Given the description of an element on the screen output the (x, y) to click on. 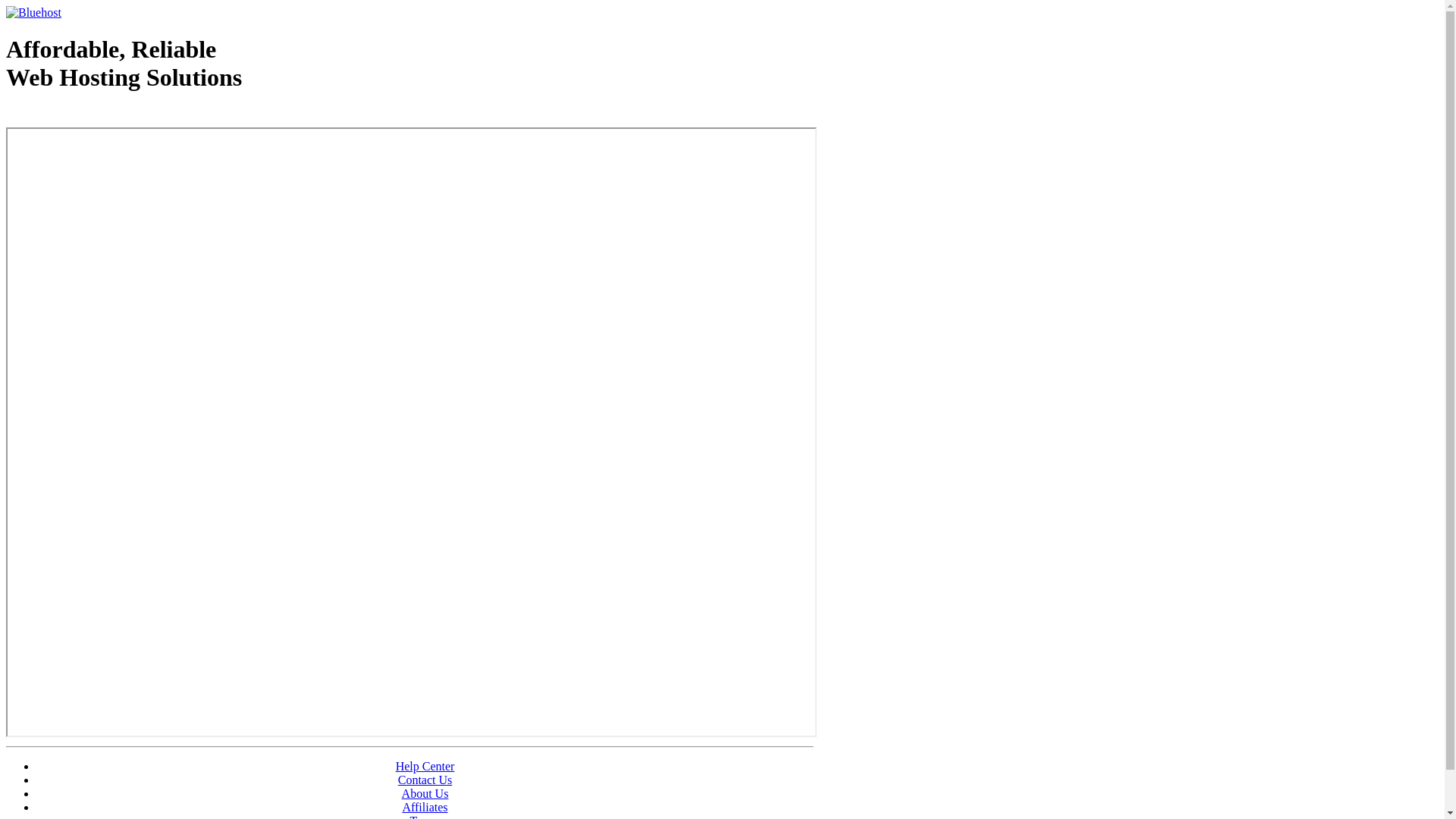
Contact Us Element type: text (425, 779)
Affiliates Element type: text (424, 806)
About Us Element type: text (424, 793)
Web Hosting - courtesy of www.bluehost.com Element type: text (94, 115)
Help Center Element type: text (425, 765)
